Given the description of an element on the screen output the (x, y) to click on. 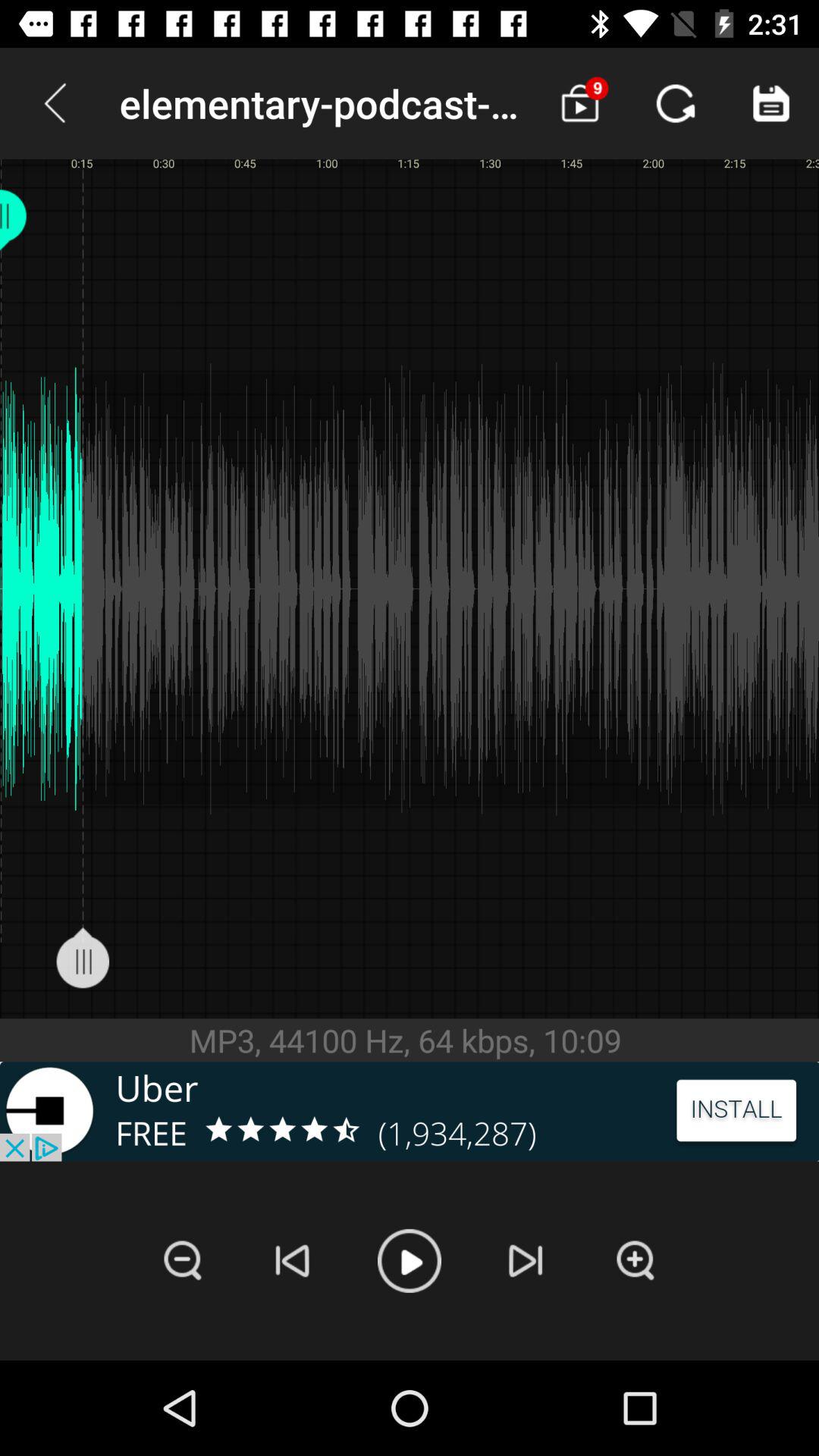
play song (409, 1260)
